Given the description of an element on the screen output the (x, y) to click on. 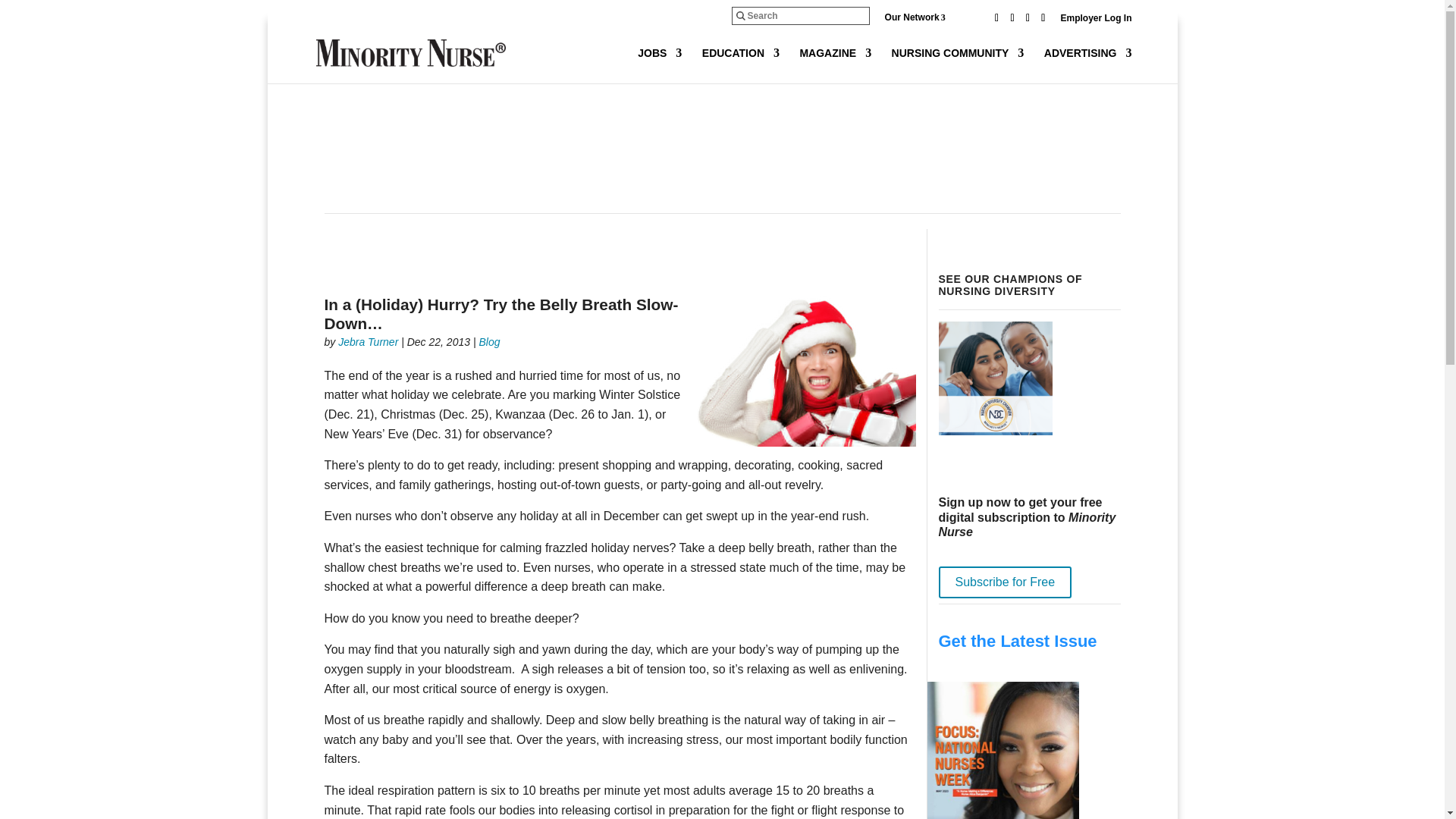
MAGAZINE (834, 65)
Subscribe for Free (1005, 582)
Employer Log In (1095, 21)
EDUCATION (739, 65)
Posts by Jebra Turner (367, 340)
3rd party ad content (721, 160)
Our Network (926, 17)
NURSING COMMUNITY (958, 65)
JOBS (659, 65)
